Given the description of an element on the screen output the (x, y) to click on. 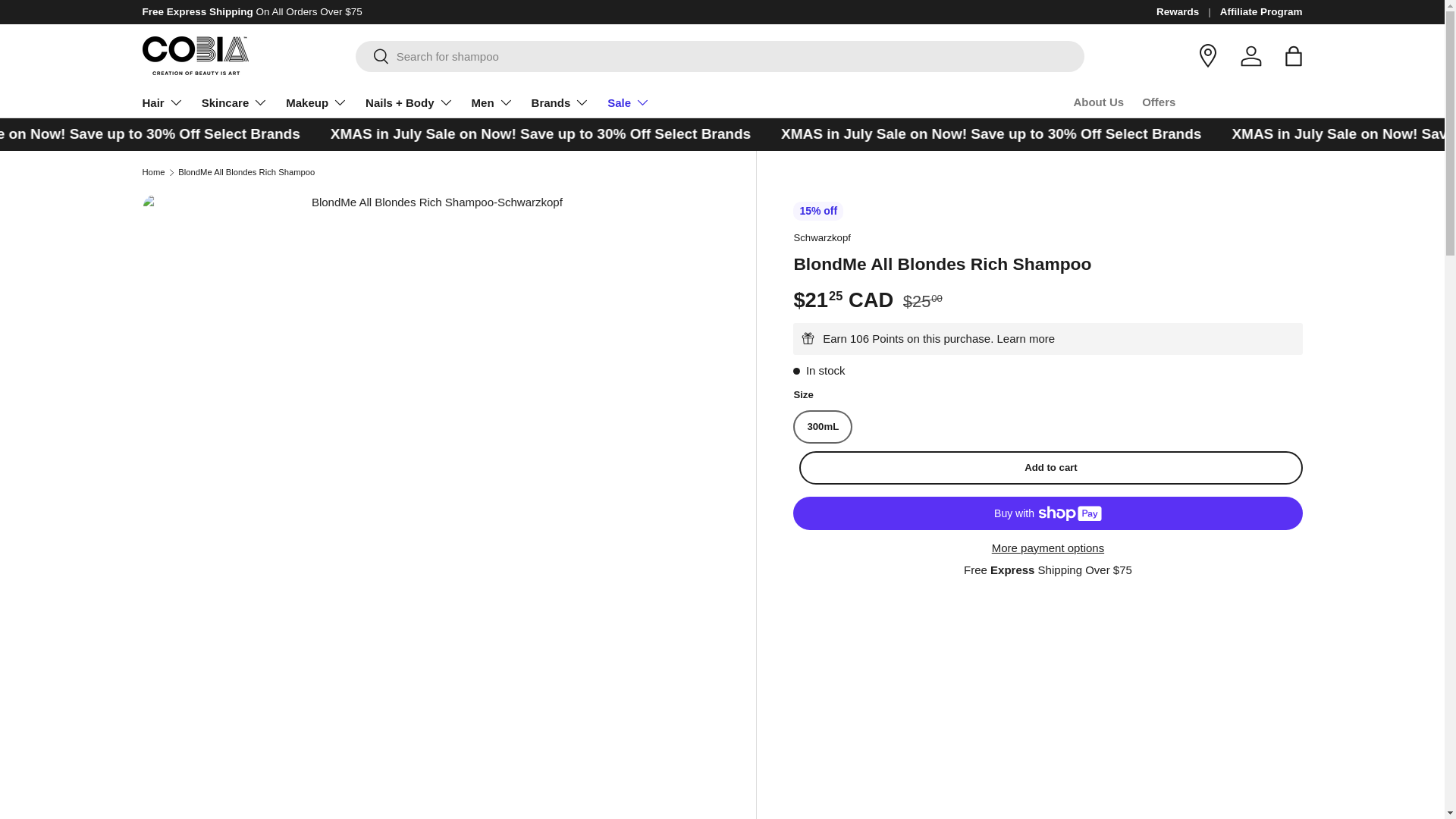
Hair (162, 101)
Search (372, 57)
Bag (1293, 55)
Affiliate Program (1261, 11)
Rewards (1188, 11)
Log in (1251, 55)
Skip to content (69, 21)
